Given the description of an element on the screen output the (x, y) to click on. 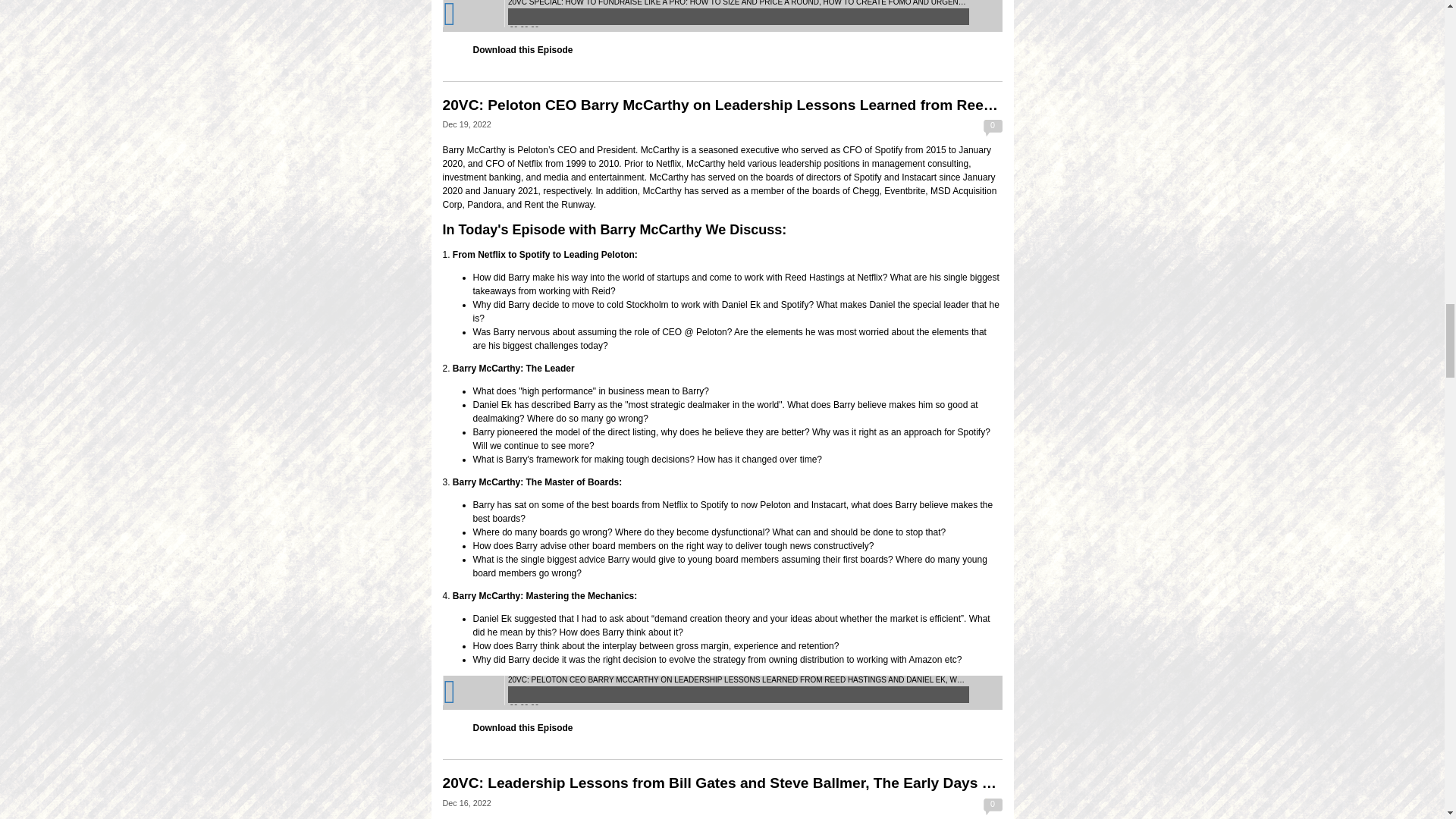
Libsyn Player (722, 692)
Libsyn Player (722, 15)
